Given the description of an element on the screen output the (x, y) to click on. 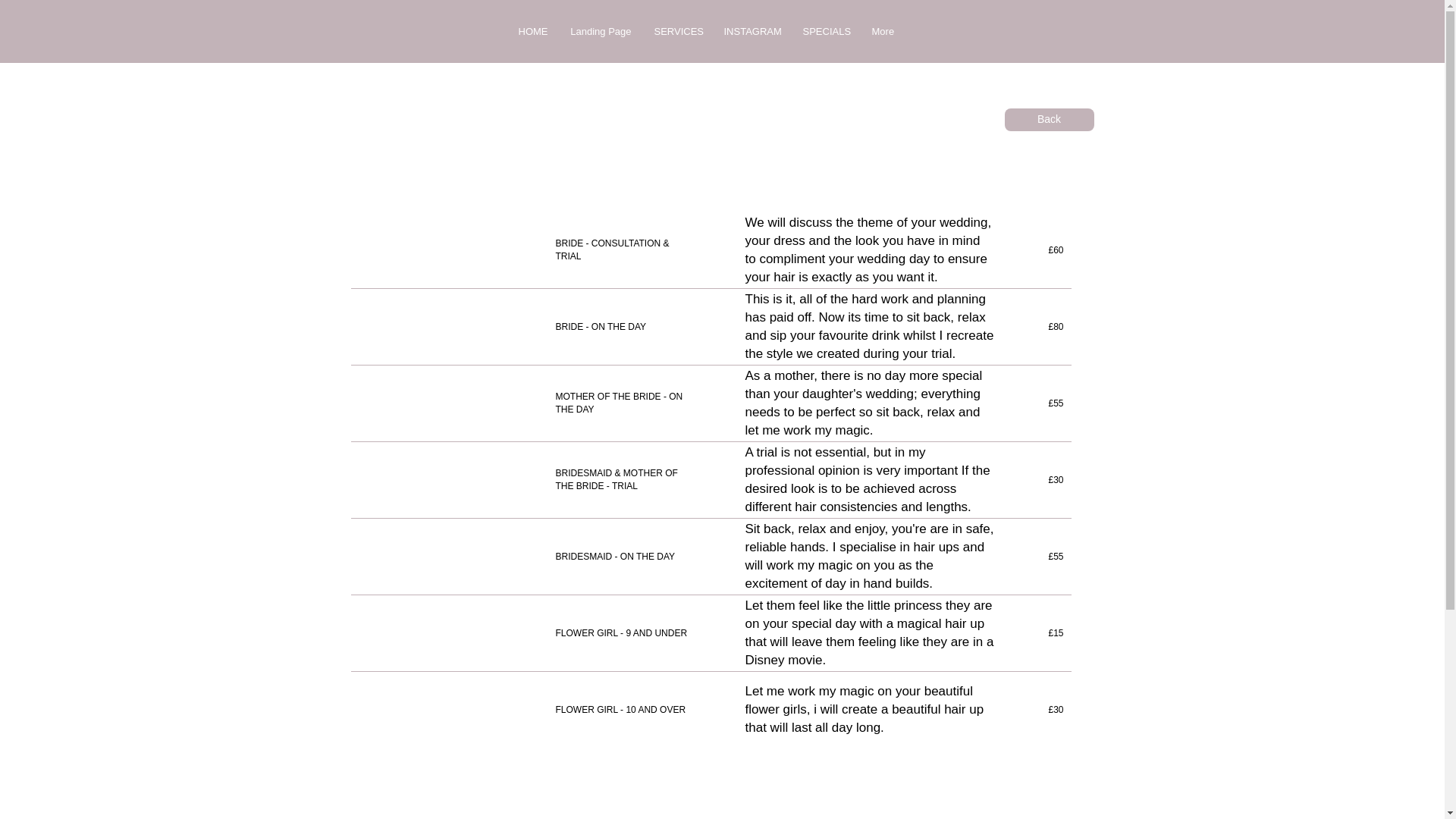
SERVICES (678, 31)
Landing Page (599, 31)
Back (1048, 119)
HOME (531, 31)
INSTAGRAM (752, 31)
SPECIALS (826, 31)
